Given the description of an element on the screen output the (x, y) to click on. 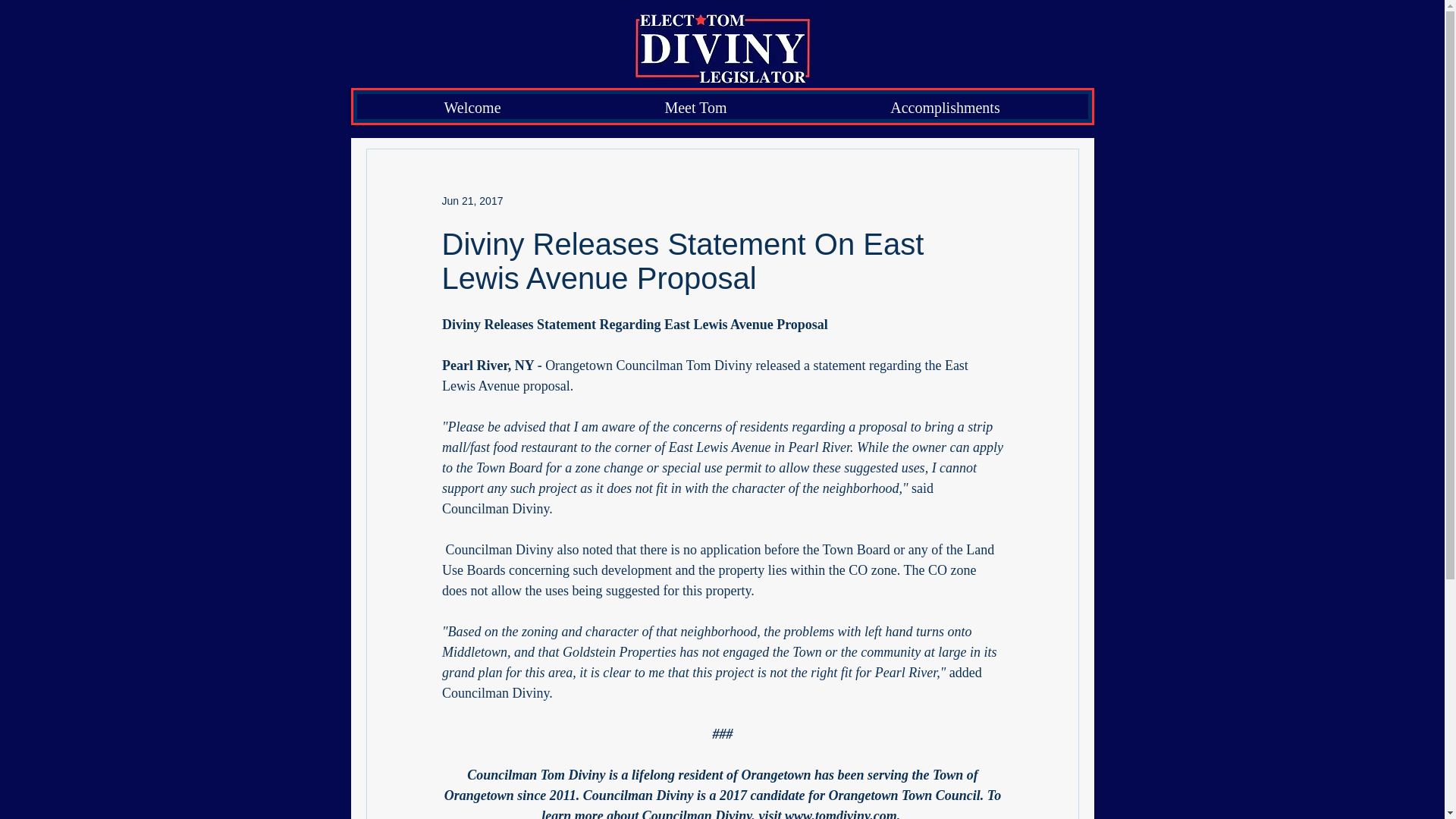
Diviny Releases Statement On East Lewis Avenue Proposal (682, 260)
Accomplishments (944, 106)
Jun 21, 2017 (471, 200)
Meet Tom (695, 106)
Welcome (472, 106)
